Given the description of an element on the screen output the (x, y) to click on. 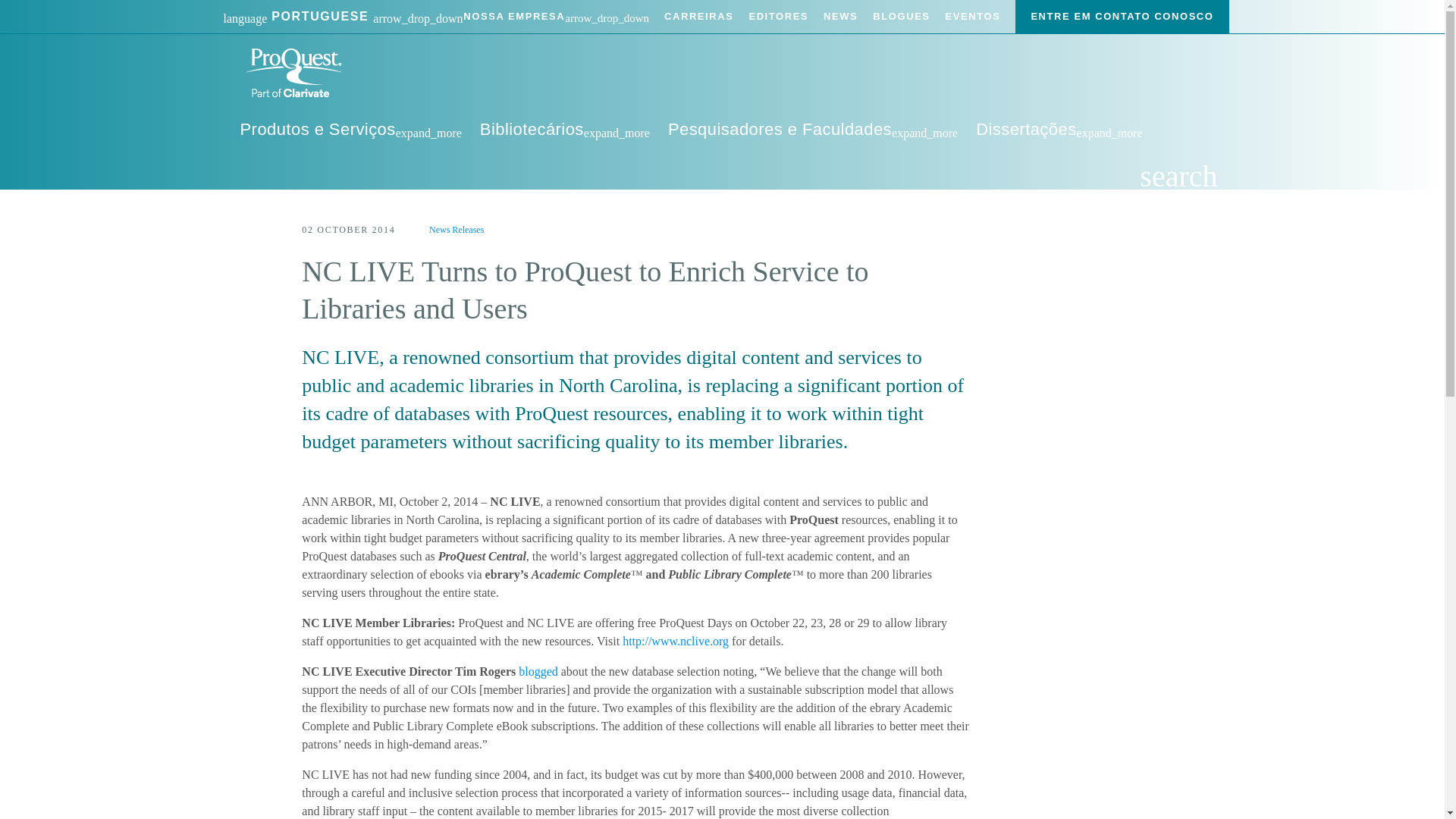
ENTRE EM CONTATO CONOSCO (1121, 16)
NEWS (839, 16)
BLOGUES (900, 16)
EVENTOS (973, 16)
Portuguese (342, 16)
EDITORES (778, 16)
CARREIRAS (698, 16)
